Given the description of an element on the screen output the (x, y) to click on. 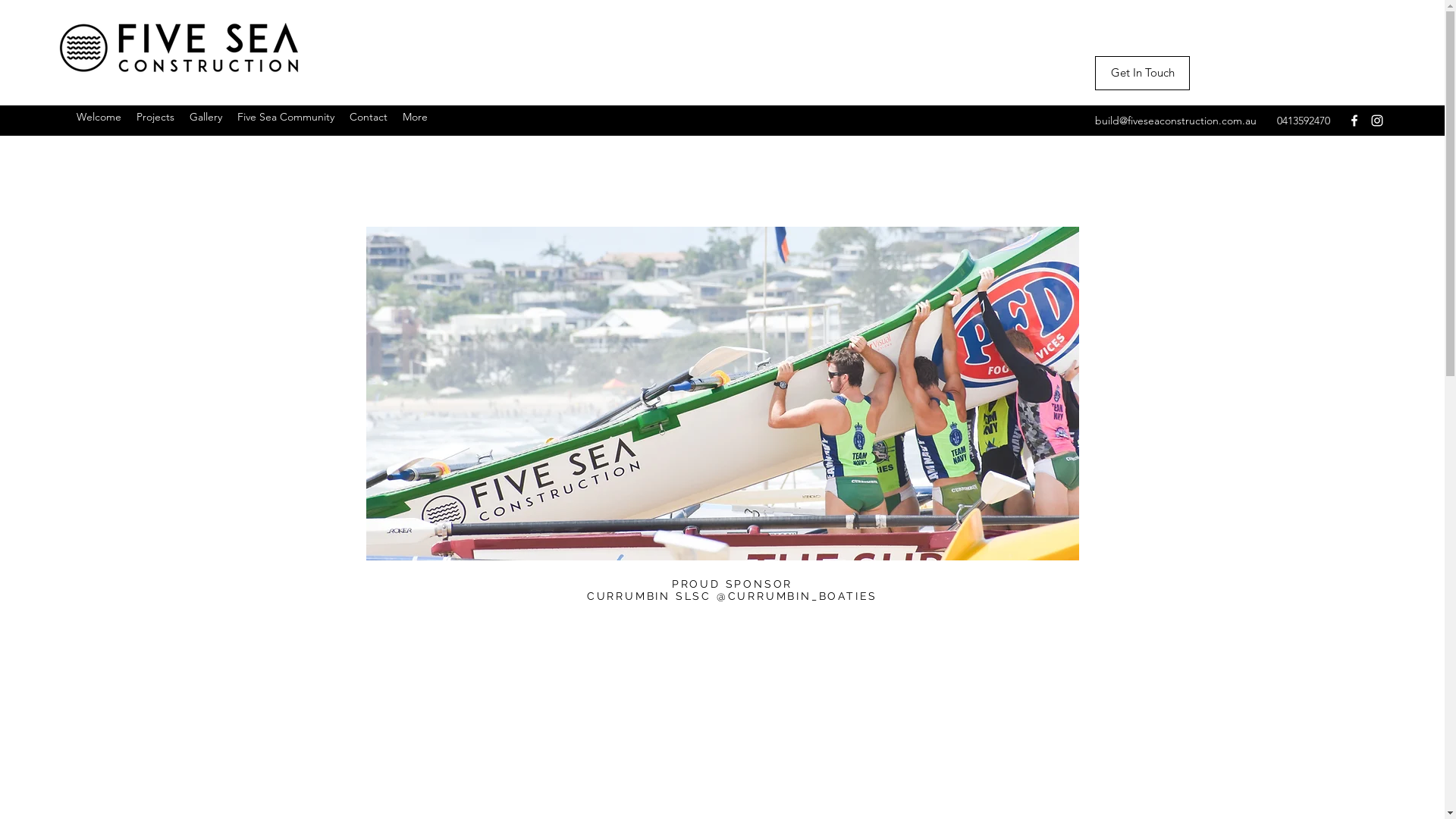
PROUD SPONSOR
CURRUMBIN SLSC @CURRUMBIN_BOATIES Element type: text (731, 589)
Get In Touch Element type: text (1142, 73)
Welcome Element type: text (98, 116)
build@fiveseaconstruction.com.au Element type: text (1175, 120)
Five Sea Community Element type: text (285, 116)
Contact Element type: text (368, 116)
Projects Element type: text (155, 116)
Gallery Element type: text (205, 116)
